Given the description of an element on the screen output the (x, y) to click on. 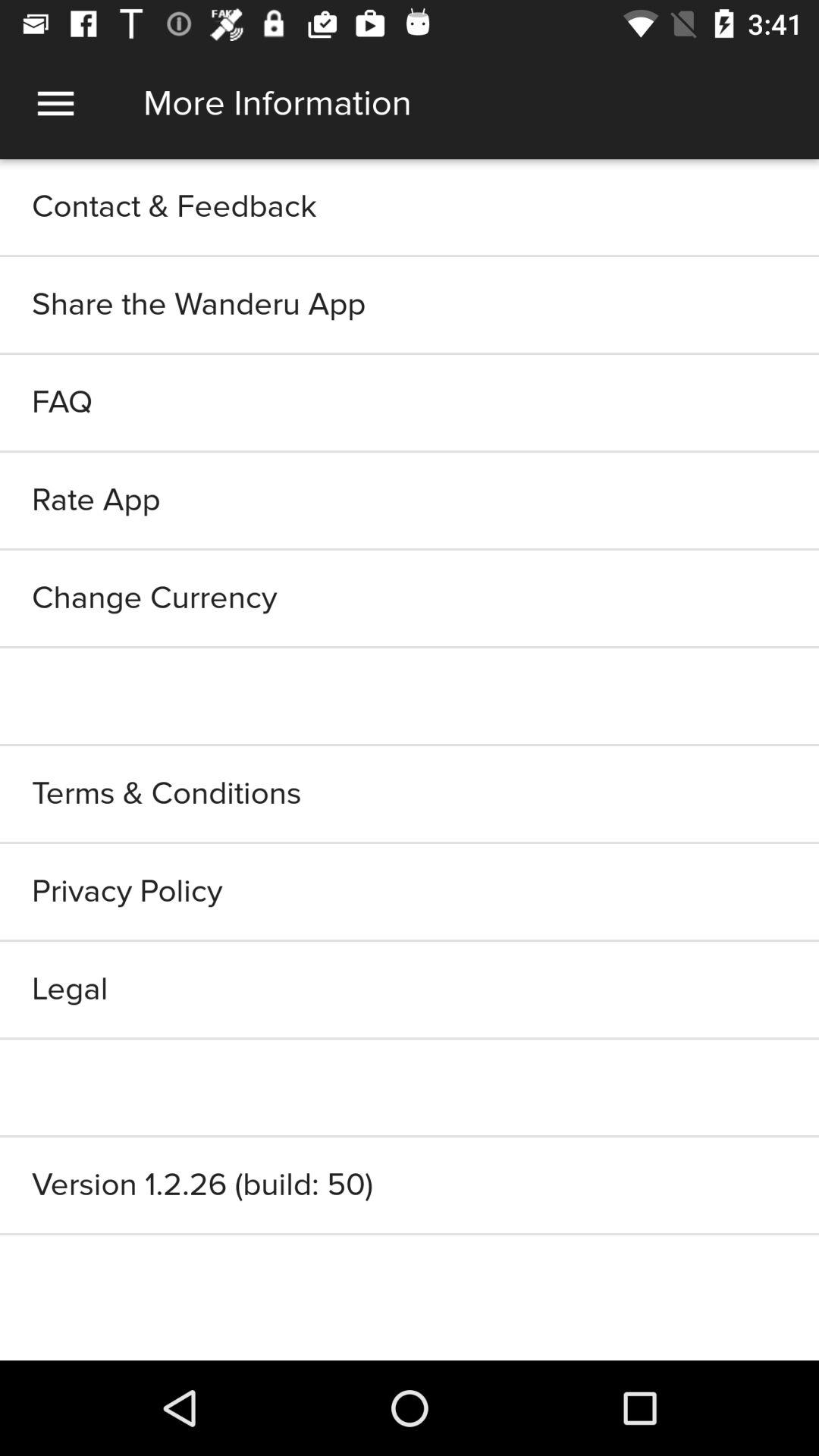
tap the icon below the privacy policy item (409, 989)
